Given the description of an element on the screen output the (x, y) to click on. 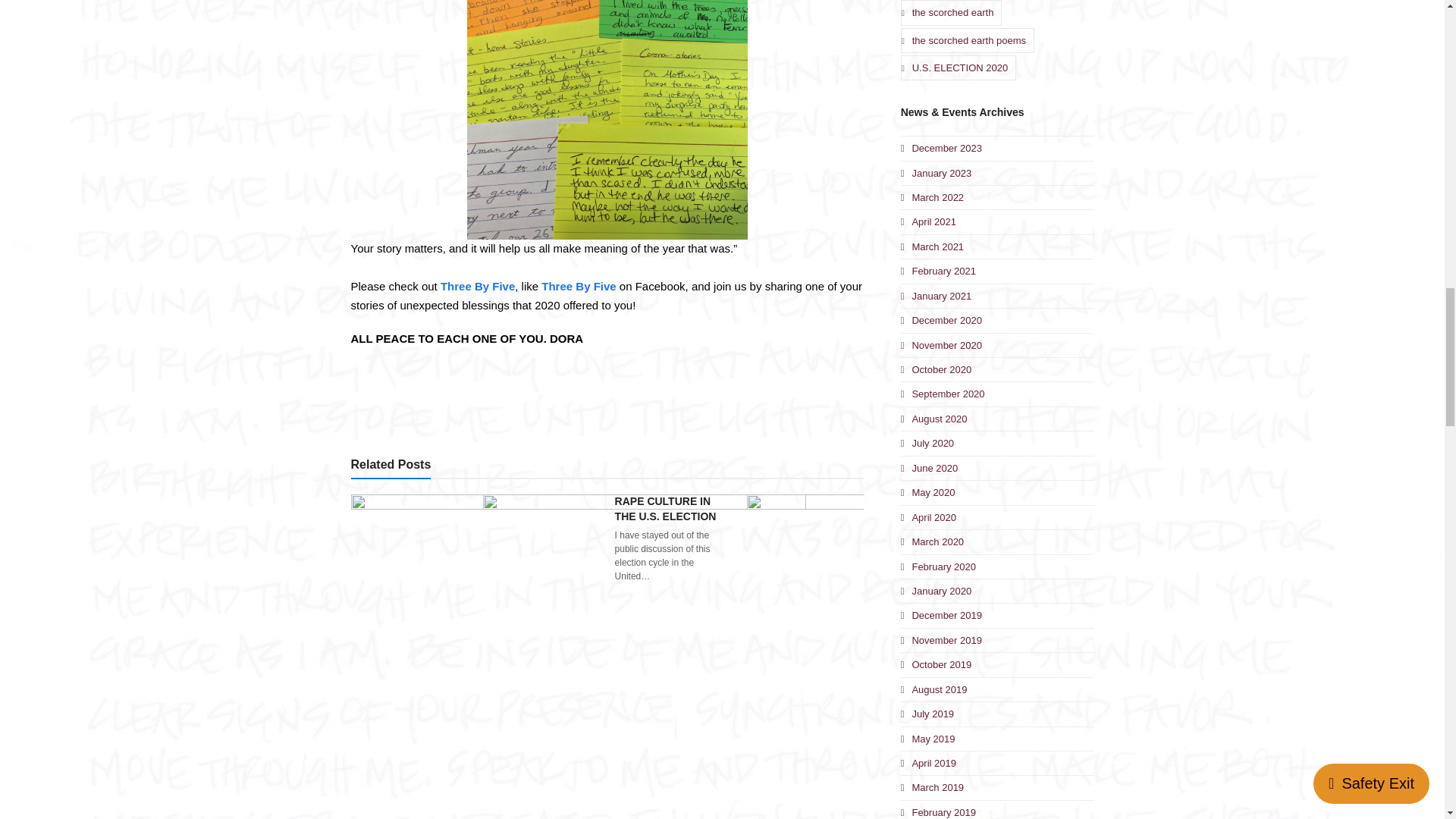
CHADWICK BOSEMAN (577, 655)
THE POWER OF A NAME (935, 664)
